Given the description of an element on the screen output the (x, y) to click on. 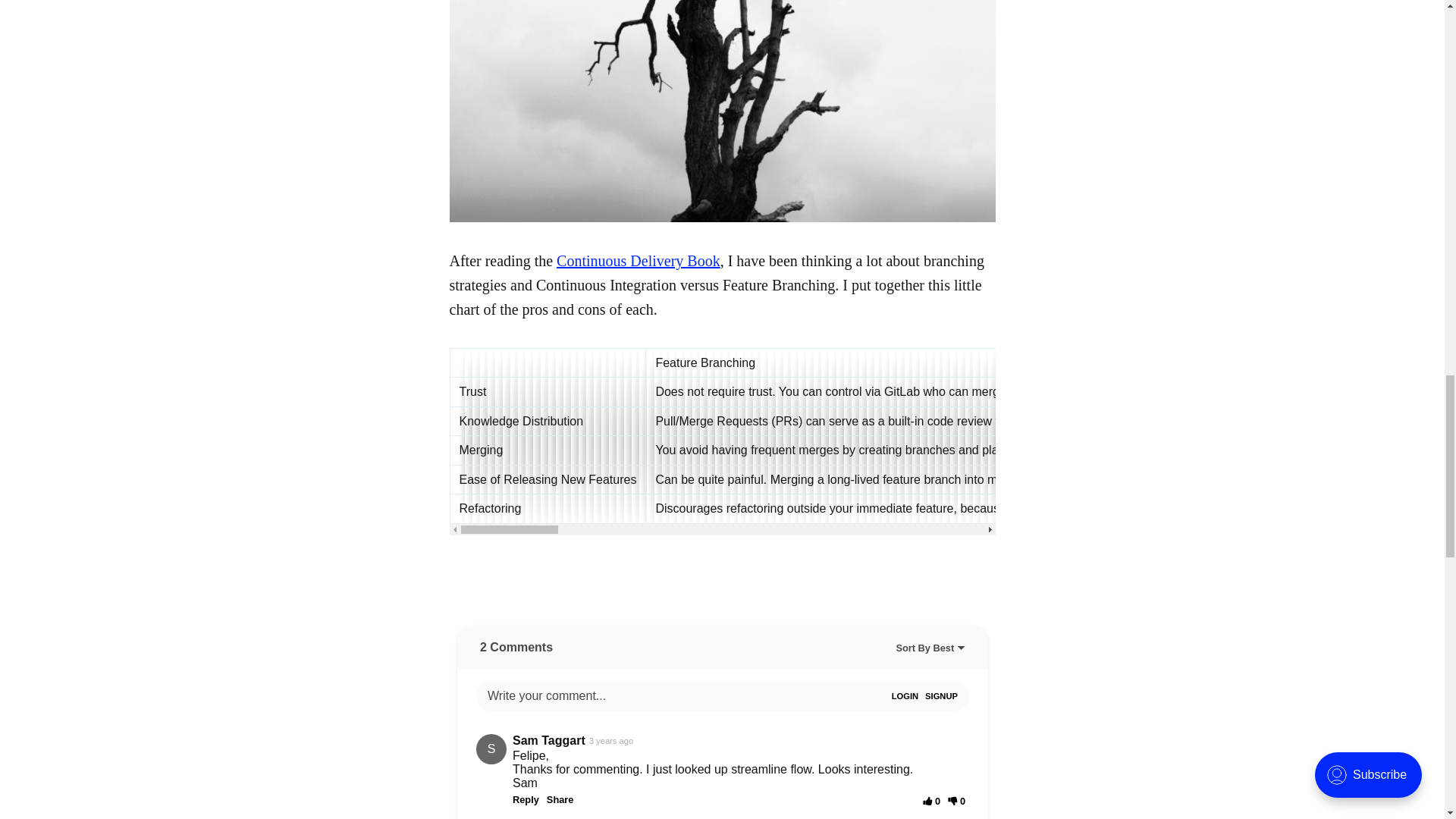
Continuous Delivery Book (638, 260)
